Given the description of an element on the screen output the (x, y) to click on. 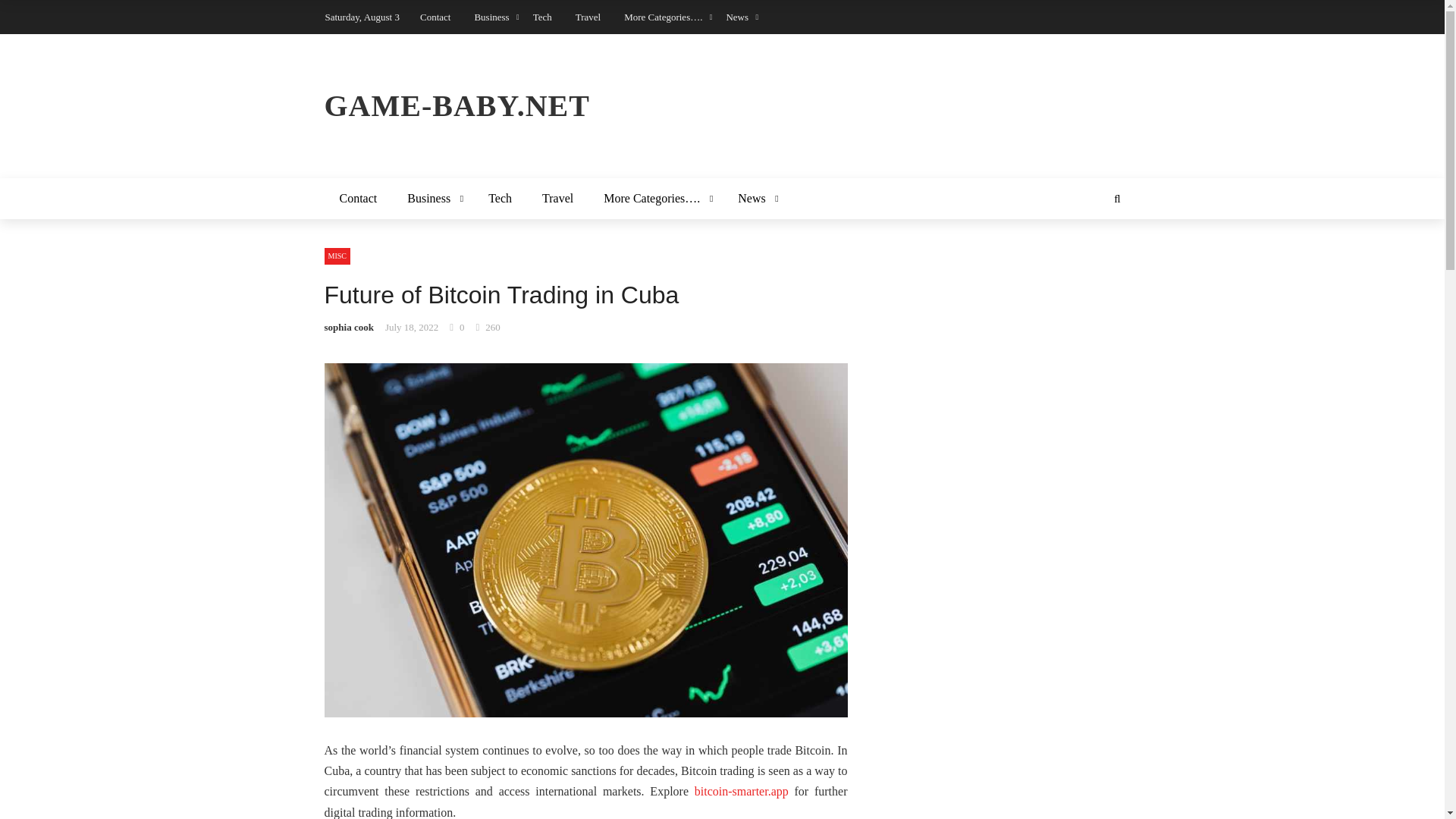
Business (432, 198)
Travel (587, 16)
Tech (500, 198)
Contact (434, 16)
Business (491, 16)
Travel (557, 198)
Tech (541, 16)
GAME-BABY.NET (722, 106)
News (736, 16)
Contact (358, 198)
News (754, 198)
